Given the description of an element on the screen output the (x, y) to click on. 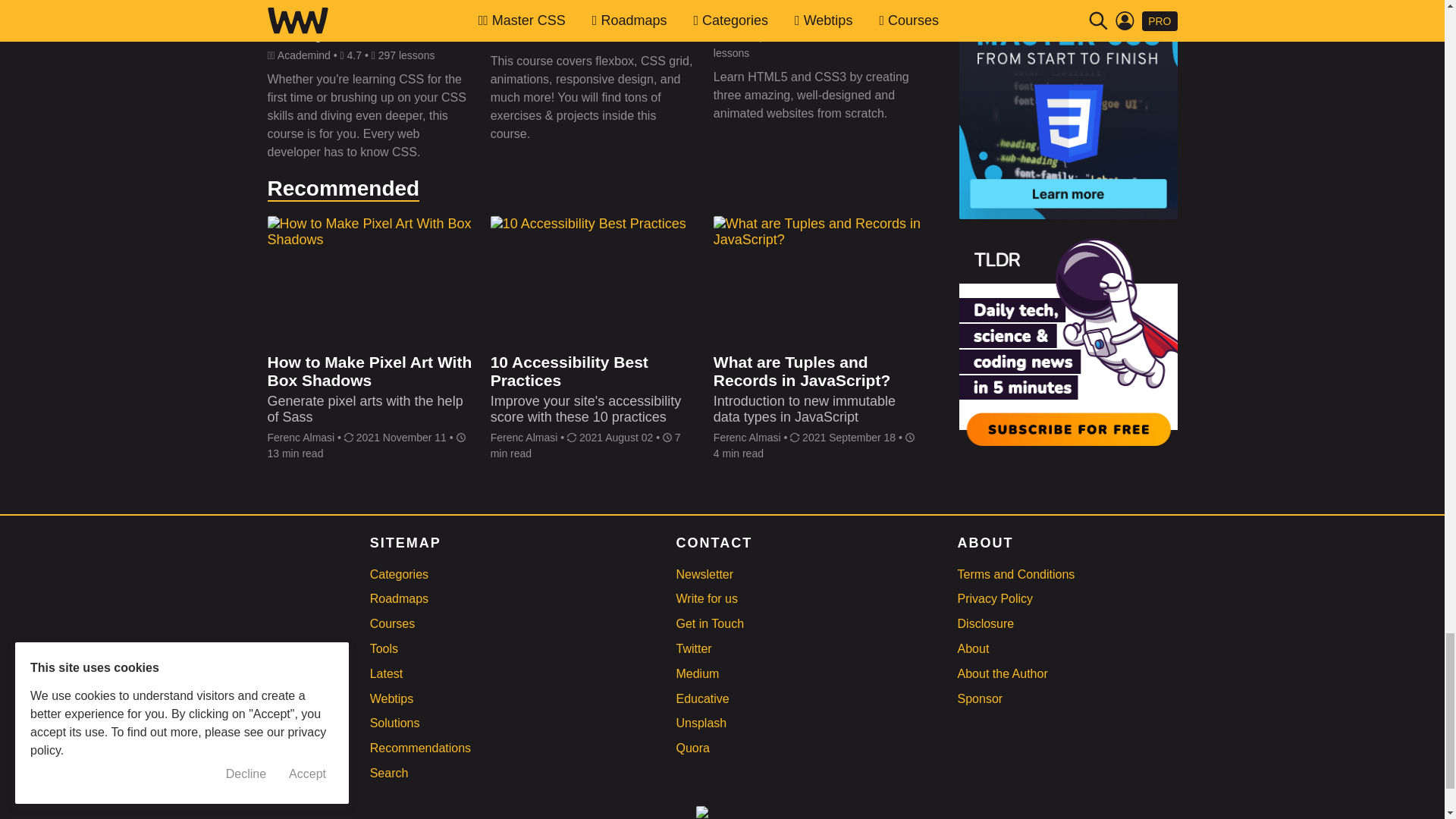
Roadmaps (398, 598)
Tools (383, 648)
Courses (391, 623)
Categories (398, 574)
